Given the description of an element on the screen output the (x, y) to click on. 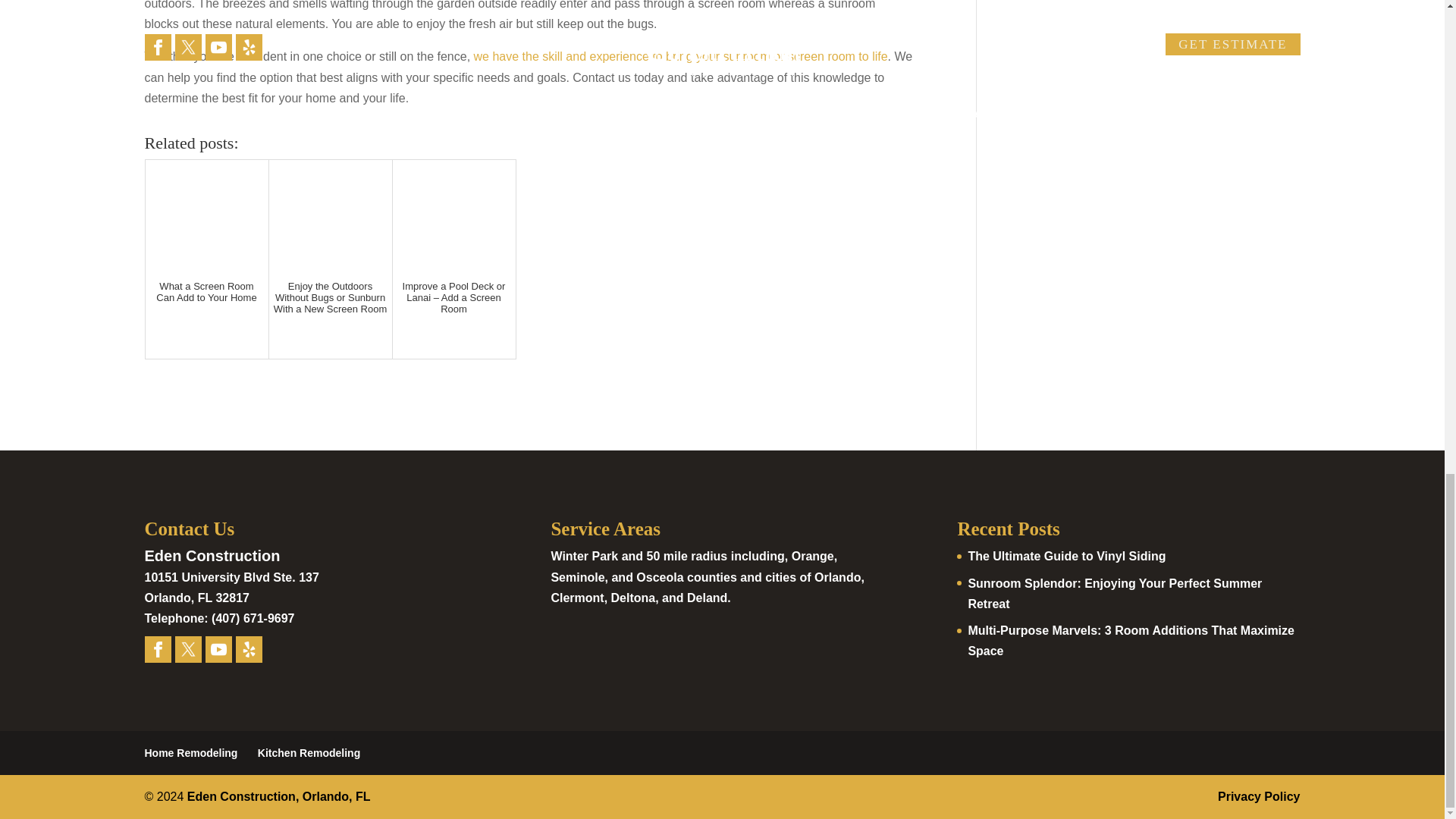
Twitter (188, 649)
Twitter (187, 649)
Facebook (157, 649)
Facebook (157, 649)
